Given the description of an element on the screen output the (x, y) to click on. 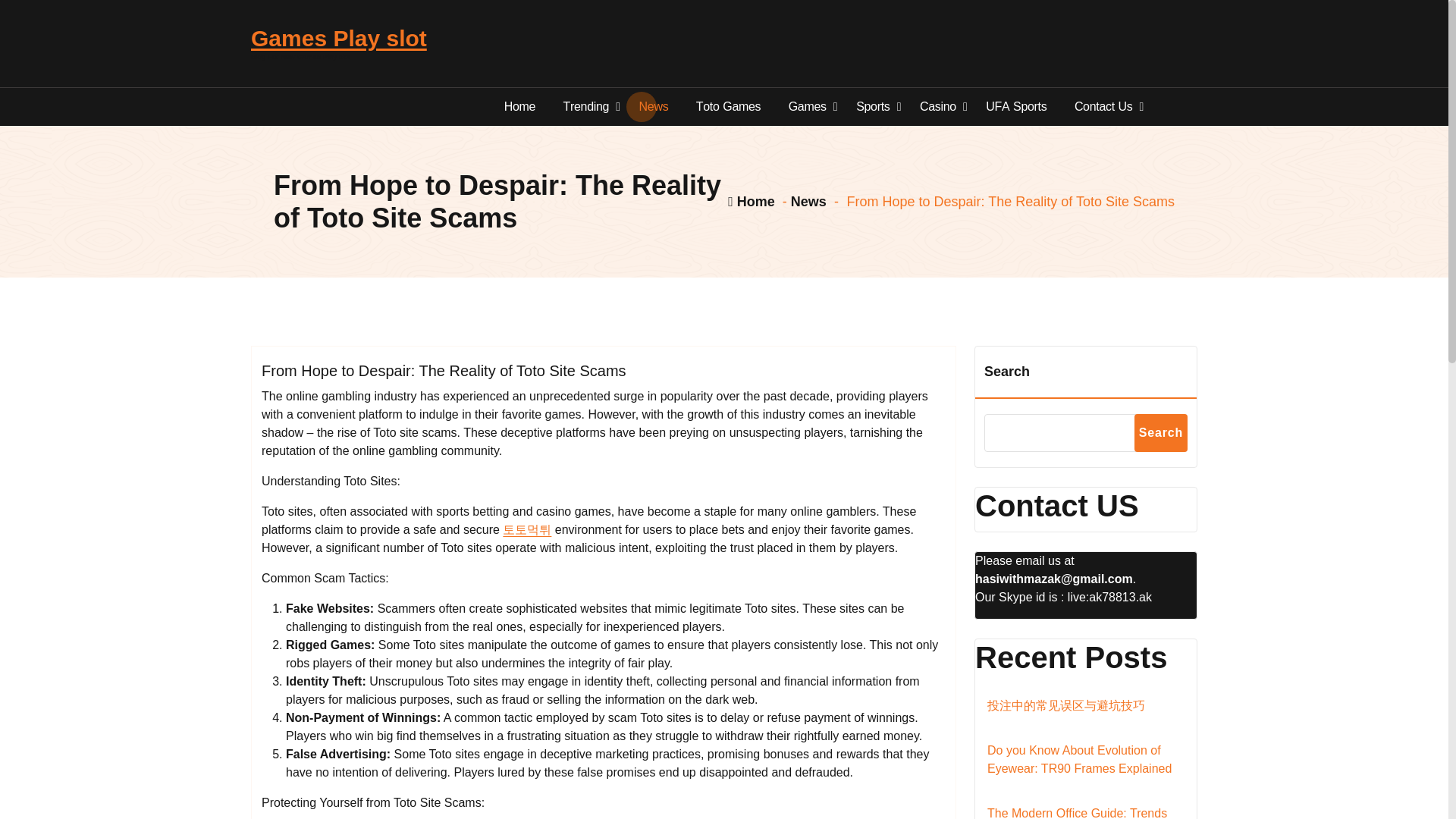
Games Play slot (338, 38)
Home (520, 106)
Trending (587, 106)
